Given the description of an element on the screen output the (x, y) to click on. 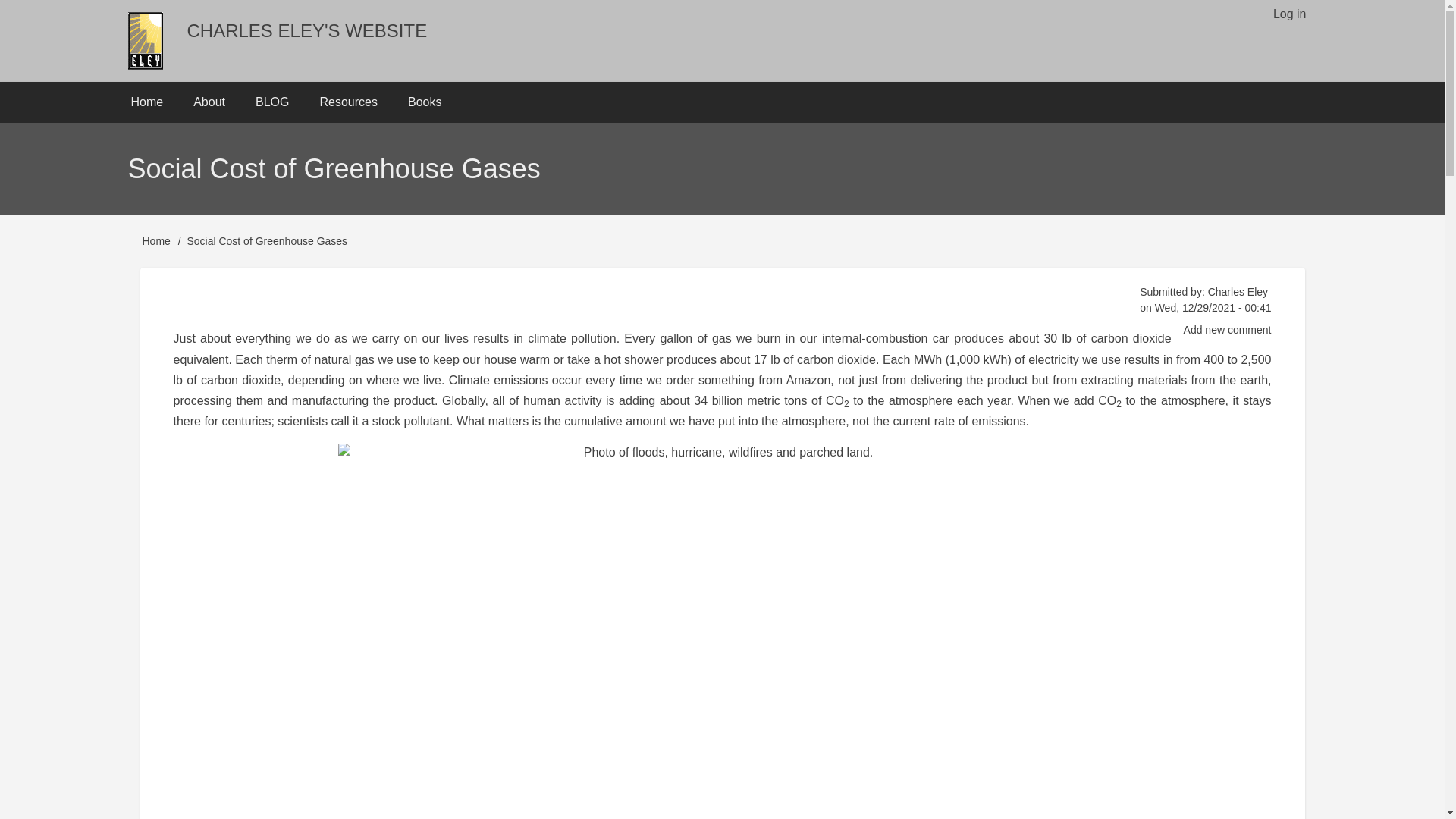
Home (306, 30)
Log in (1289, 14)
BLOG (272, 101)
Resources (347, 101)
About (208, 101)
Home (156, 241)
Home (146, 101)
CHARLES ELEY'S WEBSITE (306, 30)
Add new comment (1227, 330)
Share your thoughts and opinions. (1227, 330)
